Given the description of an element on the screen output the (x, y) to click on. 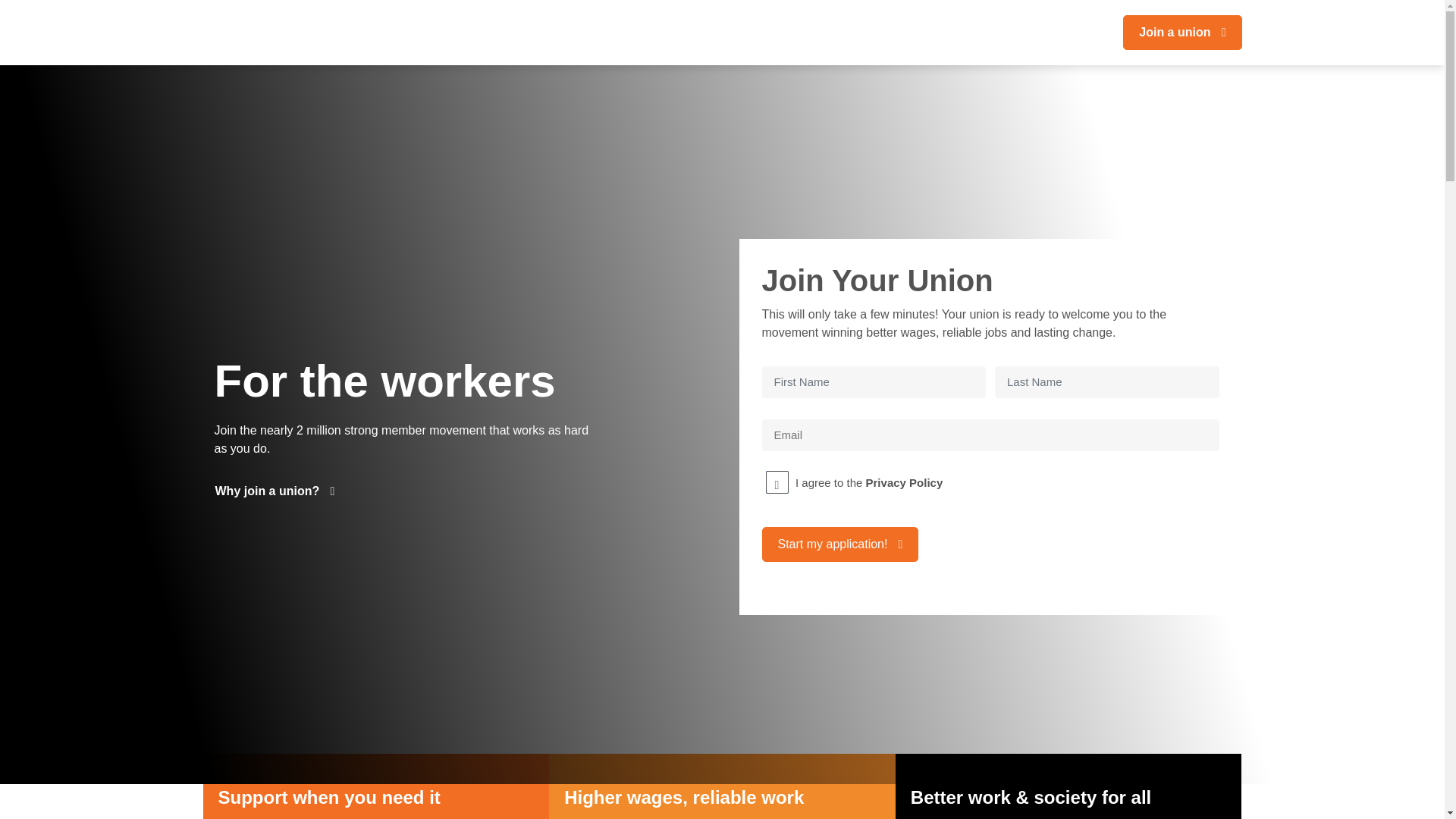
Join a union Element type: text (1182, 32)
Why join a union? Element type: text (281, 490)
Privacy Policy Element type: text (904, 482)
Start my application! Element type: text (839, 543)
